Given the description of an element on the screen output the (x, y) to click on. 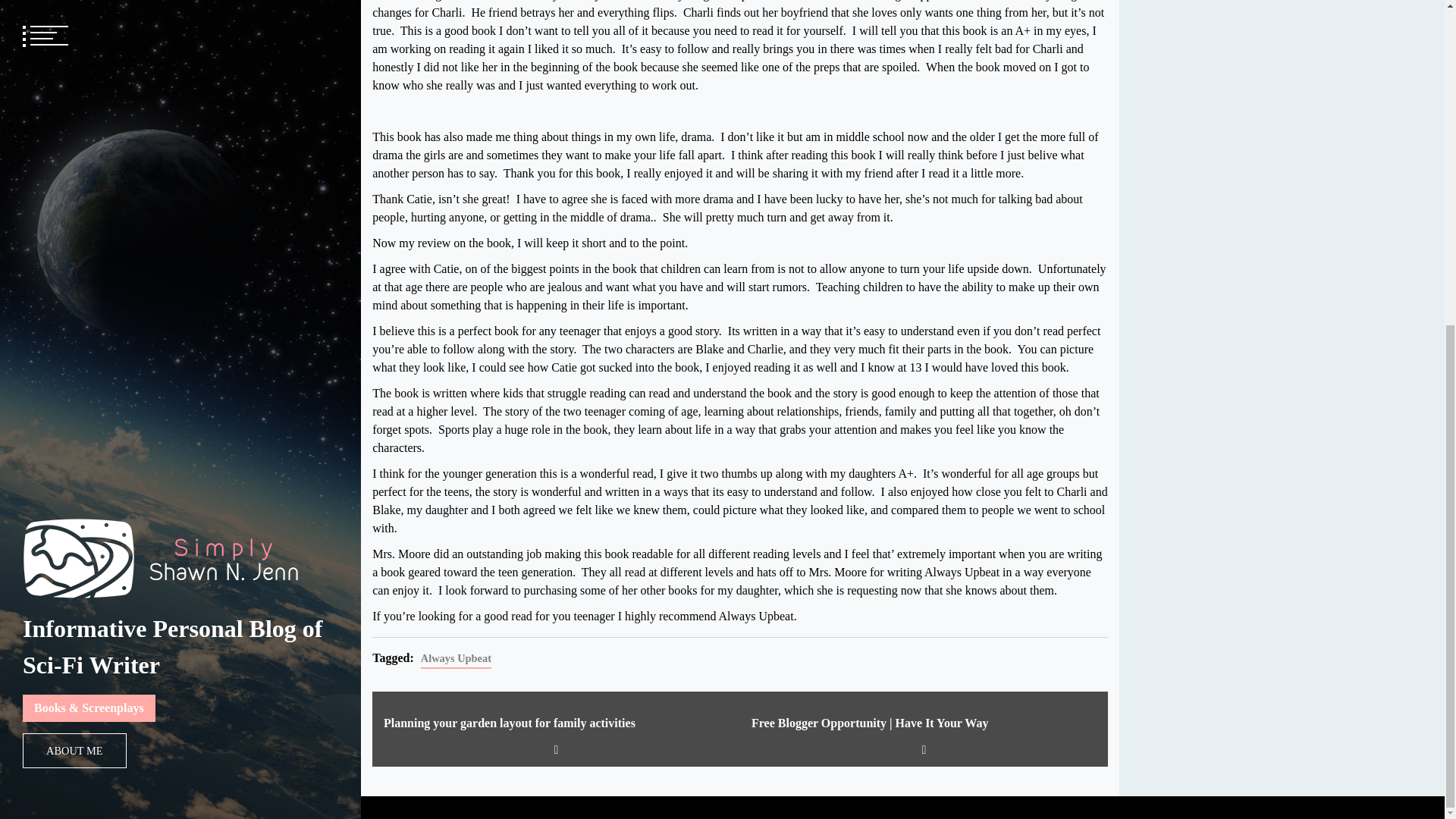
Always Upbeat (456, 659)
Planning your garden layout for family activities (556, 723)
Informative Personal Blog of Sci-Fi Writer (173, 114)
ABOUT ME (74, 217)
